Given the description of an element on the screen output the (x, y) to click on. 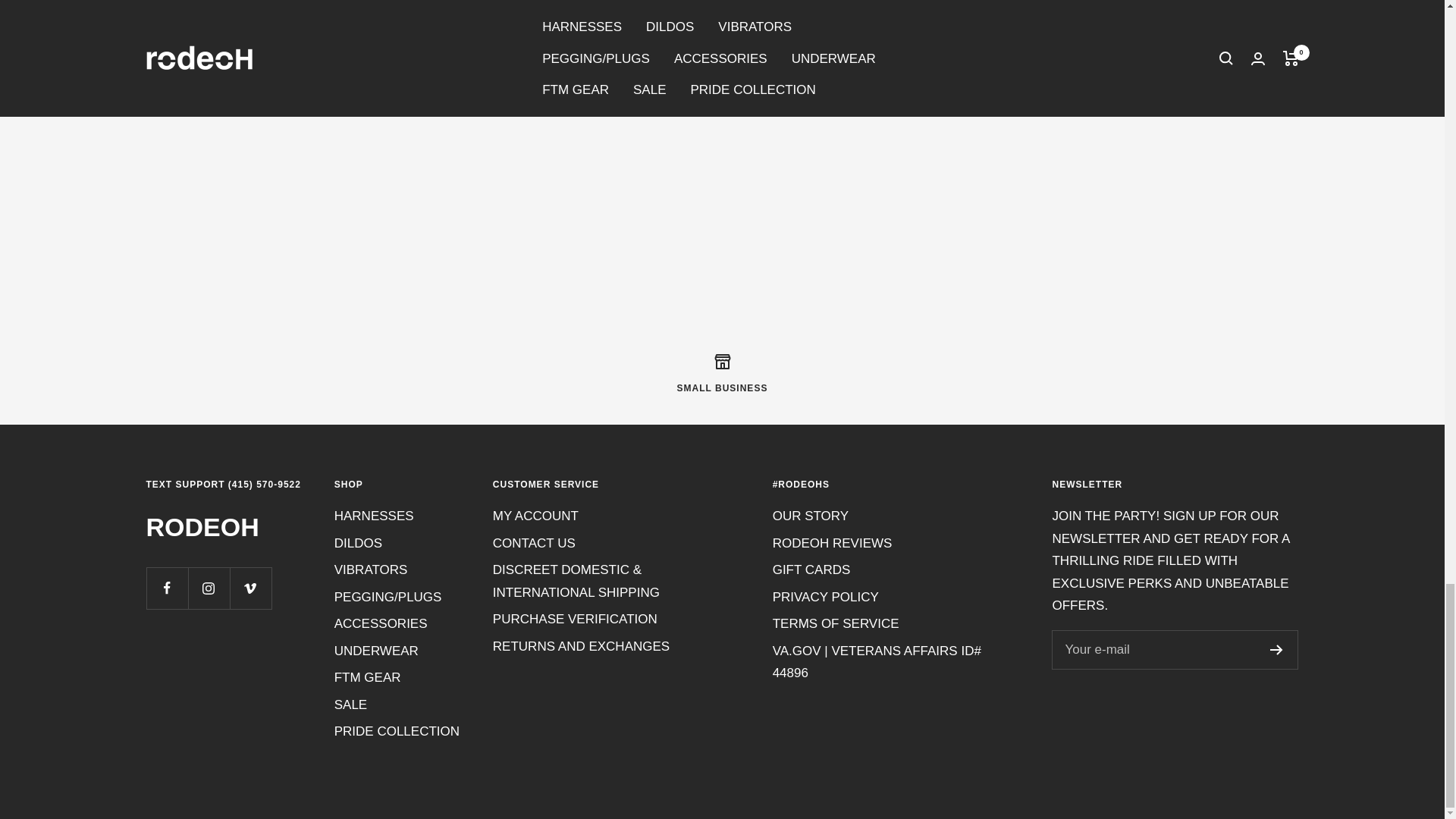
SMALL BUSINESS (721, 372)
Register (1275, 649)
